Given the description of an element on the screen output the (x, y) to click on. 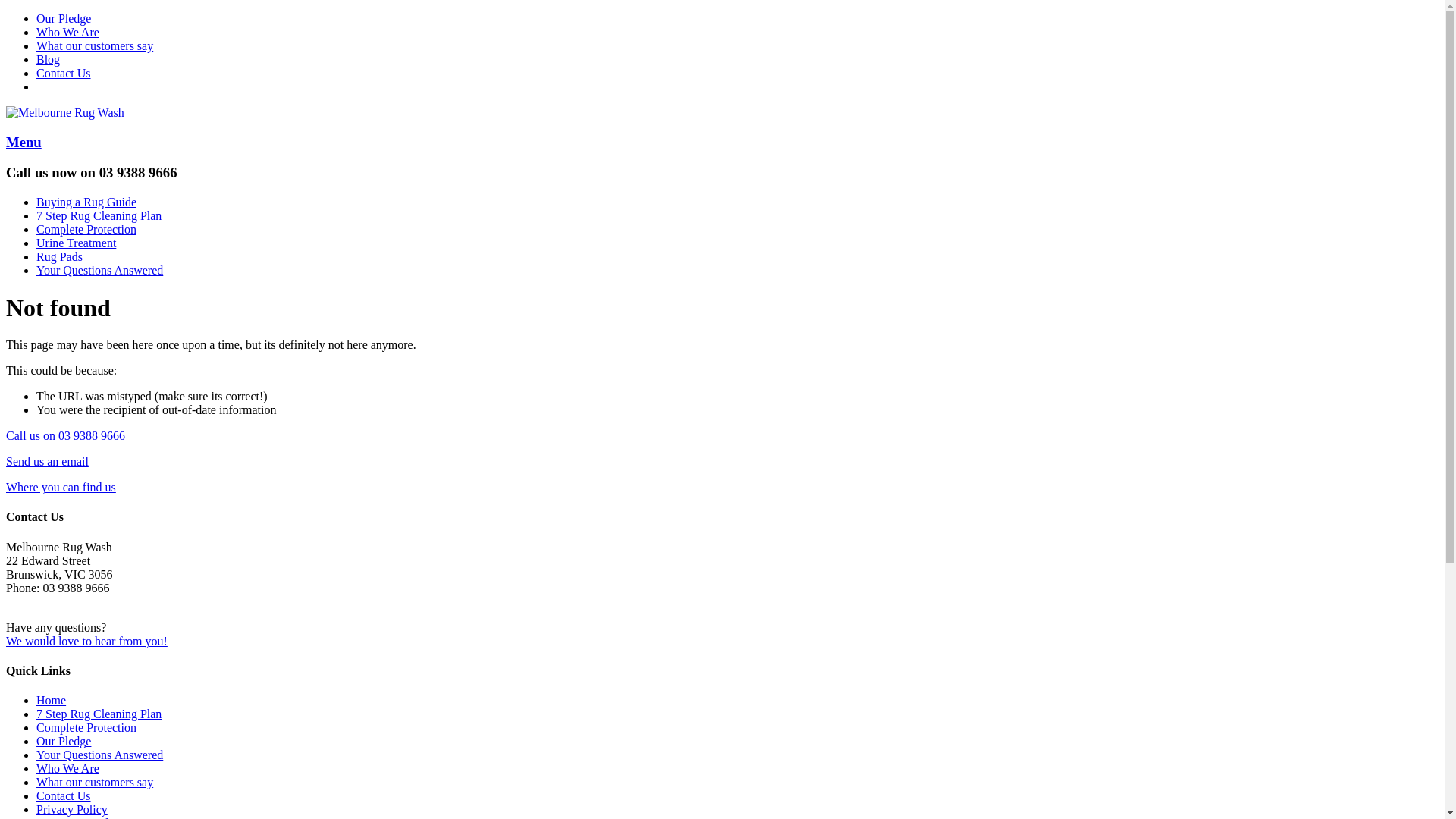
7 Step Rug Cleaning Plan Element type: text (98, 215)
Buying a Rug Guide Element type: text (86, 201)
Call us on 03 9388 9666 Element type: text (65, 435)
Your Questions Answered Element type: text (99, 269)
Our Pledge Element type: text (63, 18)
Blog Element type: text (47, 59)
Our Pledge Element type: text (63, 740)
What our customers say Element type: text (94, 781)
Contact Us Element type: text (63, 795)
Urine Treatment Element type: text (76, 242)
Send us an email Element type: text (47, 461)
Where you can find us Element type: text (61, 486)
Who We Are Element type: text (67, 768)
We would love to hear from you! Element type: text (86, 640)
7 Step Rug Cleaning Plan Element type: text (98, 713)
Complete Protection Element type: text (86, 228)
Your Questions Answered Element type: text (99, 754)
Contact Us Element type: text (63, 72)
Privacy Policy Element type: text (71, 809)
Menu Element type: text (23, 142)
What our customers say Element type: text (94, 45)
Complete Protection Element type: text (86, 727)
Home Element type: text (50, 699)
Who We Are Element type: text (67, 31)
Rug Pads Element type: text (59, 256)
